Given the description of an element on the screen output the (x, y) to click on. 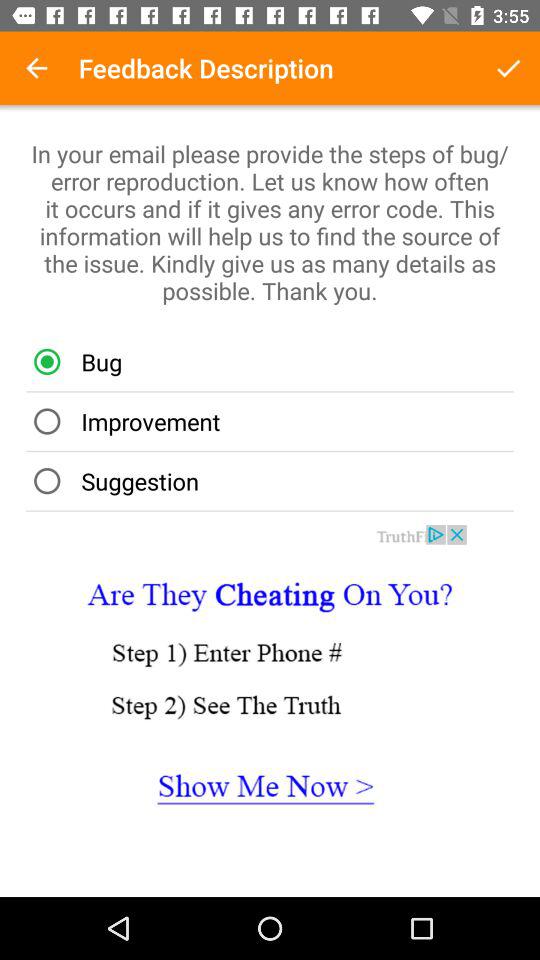
go to site (269, 689)
